Given the description of an element on the screen output the (x, y) to click on. 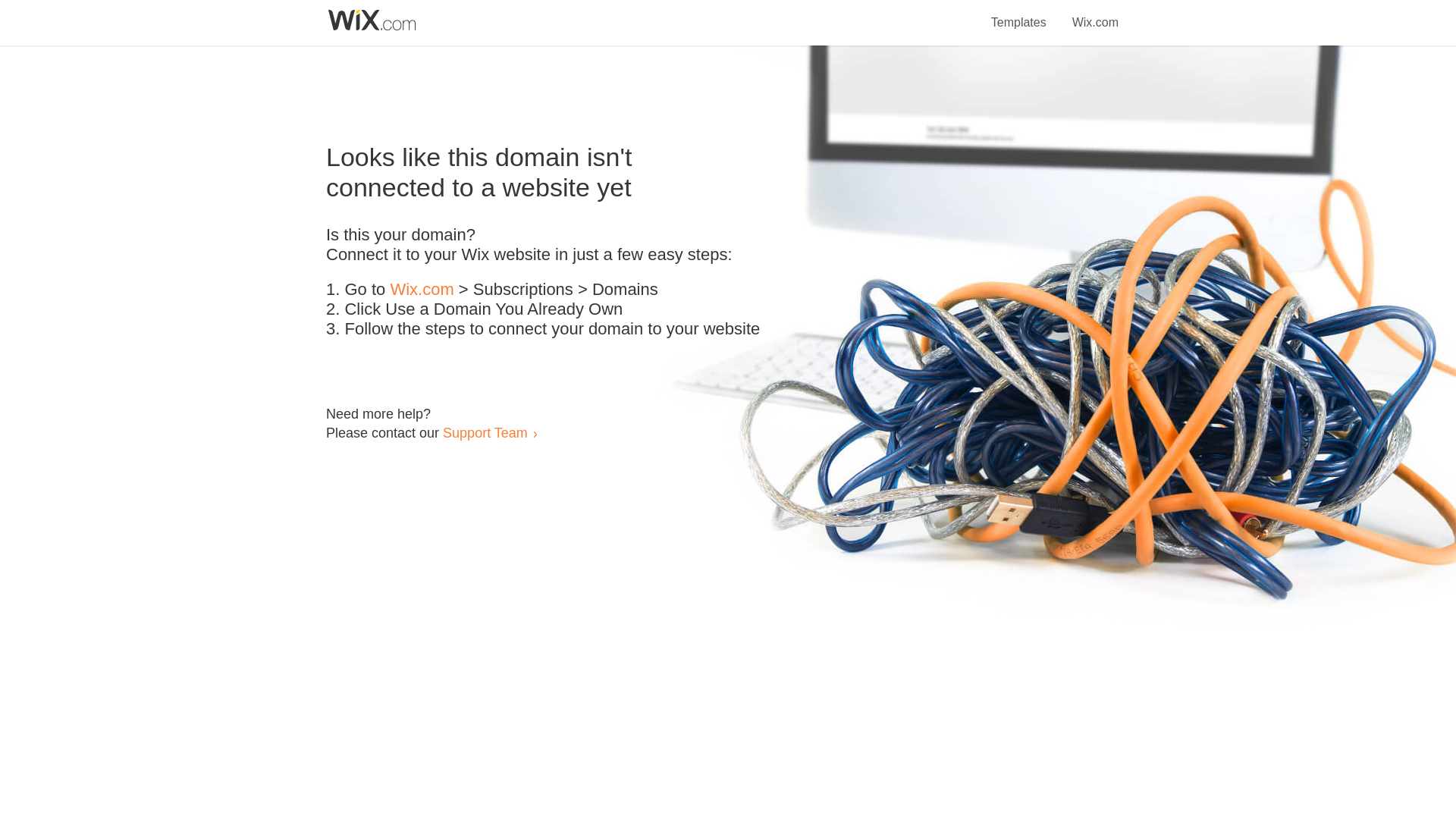
Templates (1018, 14)
Support Team (484, 432)
Wix.com (421, 289)
Wix.com (1095, 14)
